Given the description of an element on the screen output the (x, y) to click on. 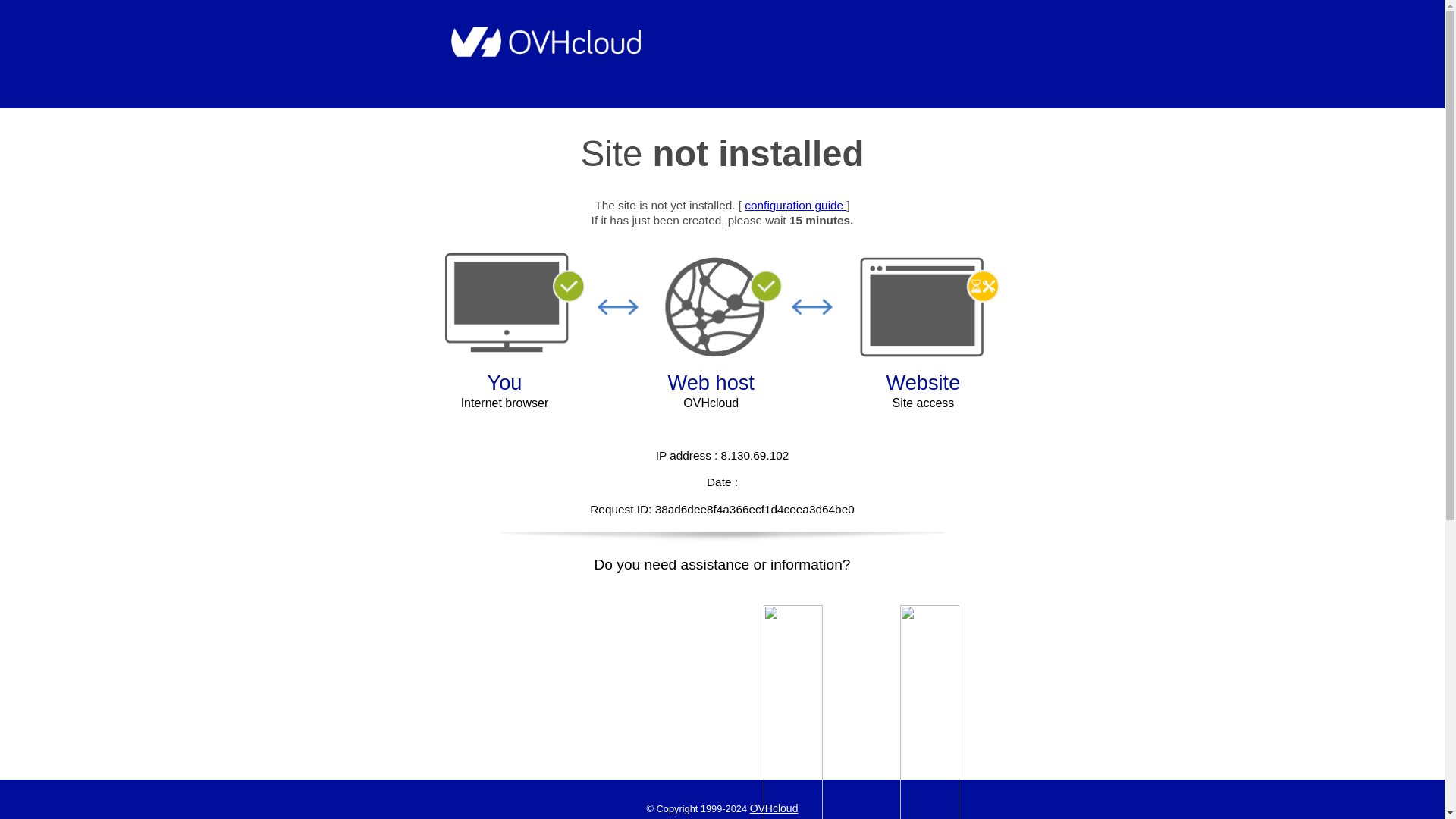
OVHcloud (773, 808)
configuration guide (794, 205)
Guides (794, 205)
